Given the description of an element on the screen output the (x, y) to click on. 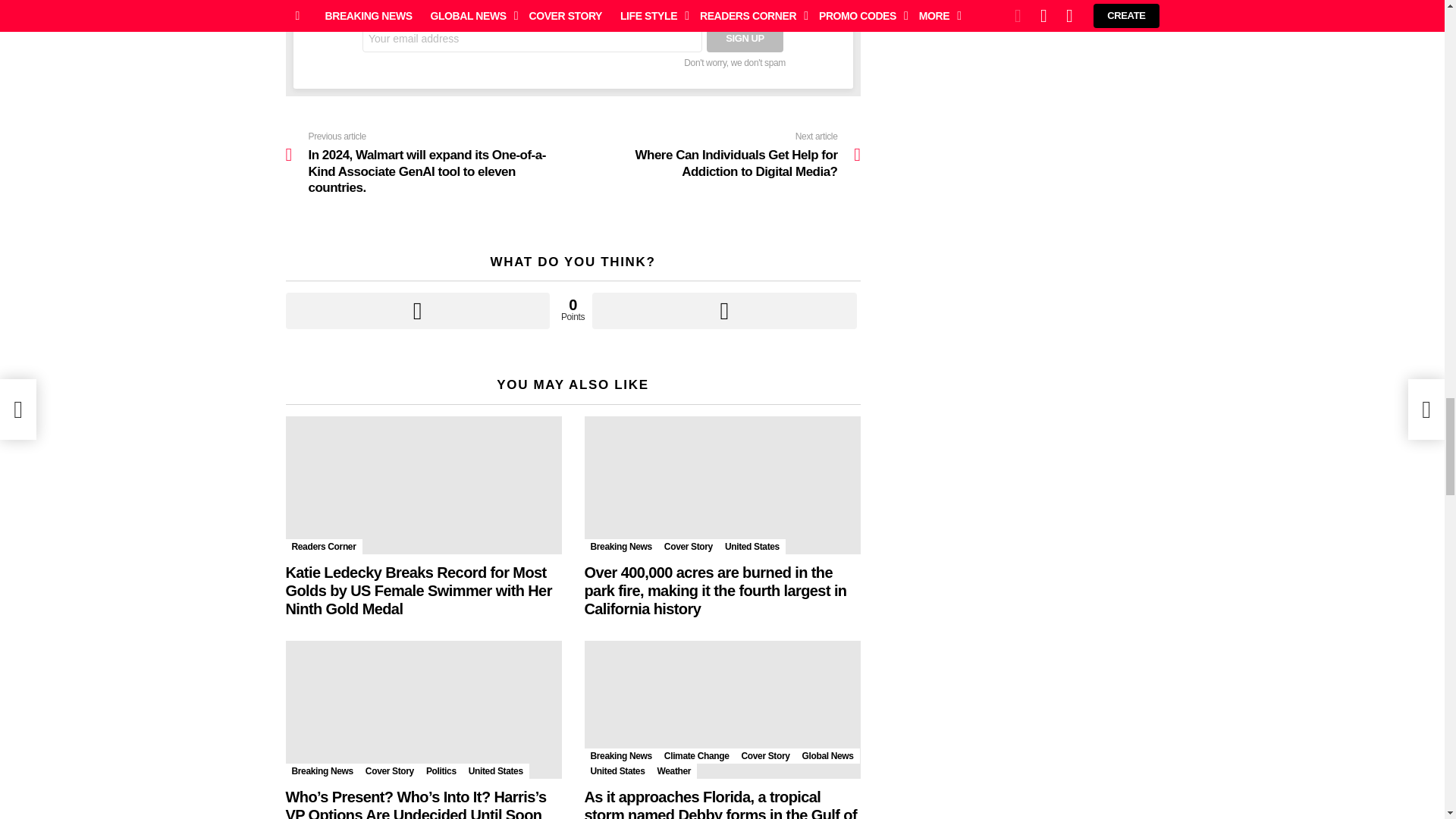
Downvote (724, 310)
Sign up (744, 38)
Upvote (416, 310)
